Given the description of an element on the screen output the (x, y) to click on. 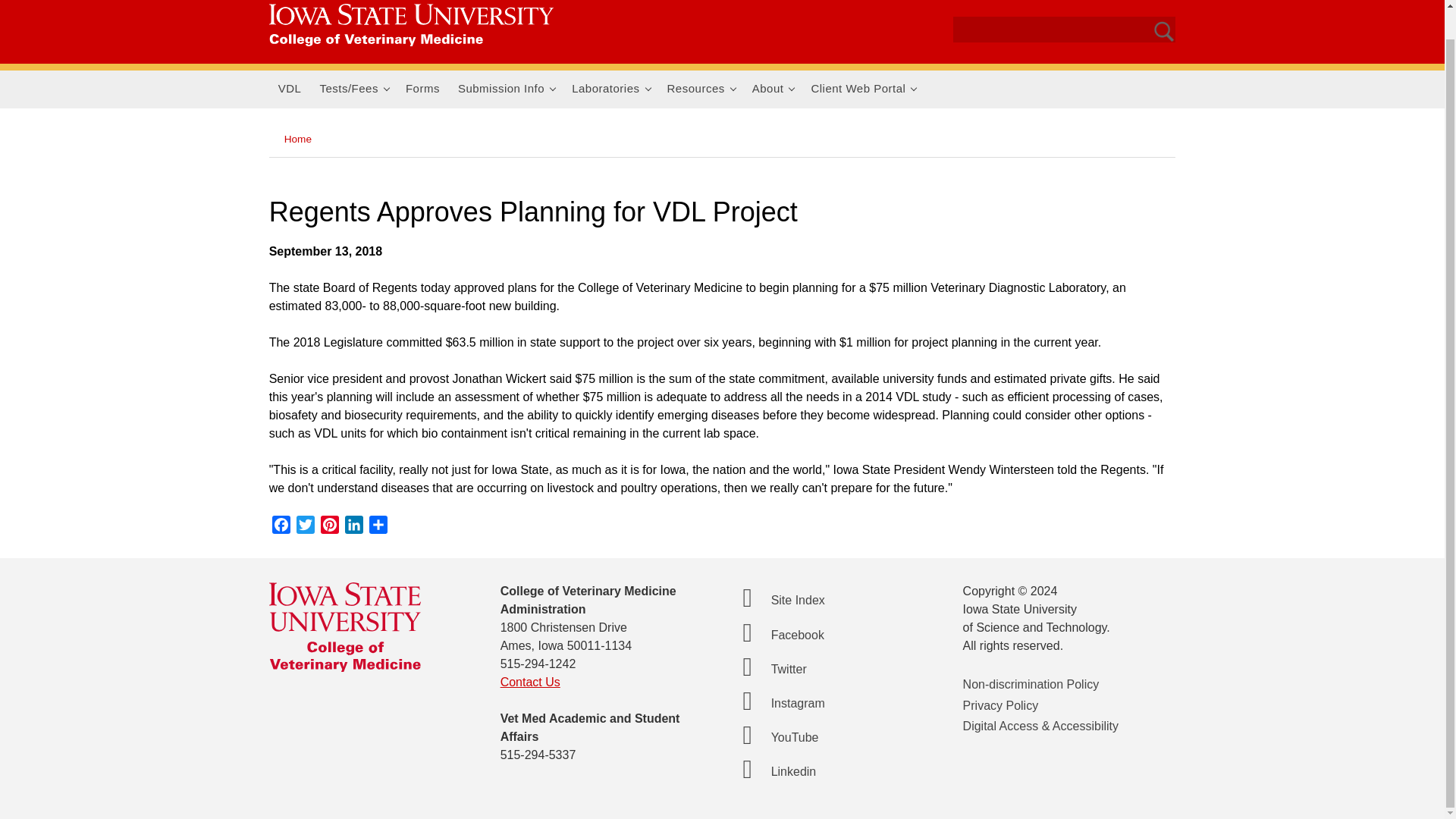
Iowa State University (411, 24)
VDL (290, 89)
Forms (422, 89)
Enter the terms you wish to search for. (1038, 31)
